Given the description of an element on the screen output the (x, y) to click on. 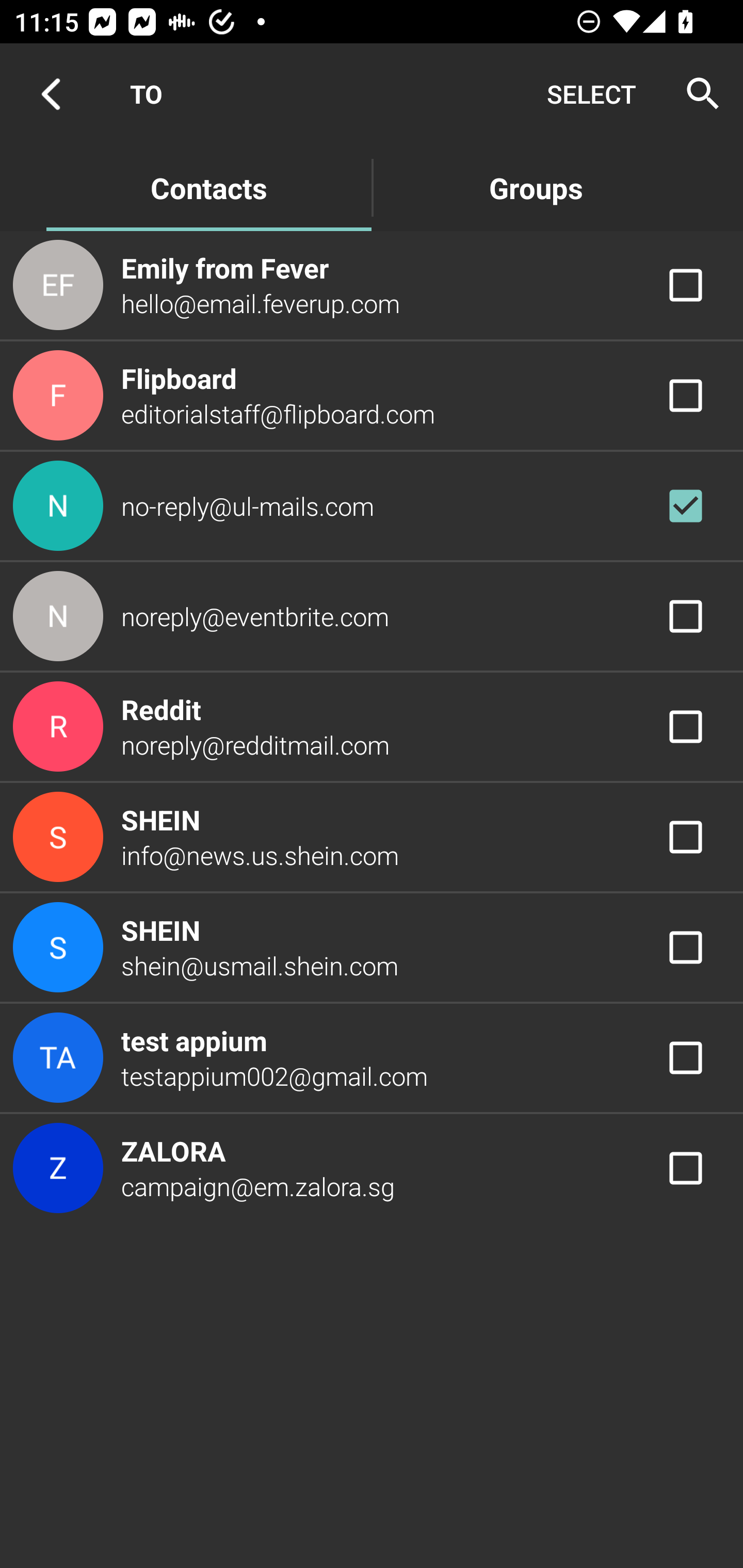
Navigate up (50, 93)
SELECT (590, 93)
Search (696, 93)
Contacts (208, 187)
Groups (535, 187)
Emily from Fever hello@email.feverup.com (371, 284)
Flipboard editorialstaff@flipboard.com (371, 395)
no-reply@ul-mails.com (371, 505)
noreply@eventbrite.com (371, 616)
Reddit noreply@redditmail.com (371, 726)
SHEIN info@news.us.shein.com (371, 836)
SHEIN shein@usmail.shein.com (371, 947)
test appium testappium002@gmail.com (371, 1057)
ZALORA campaign@em.zalora.sg (371, 1168)
